Given the description of an element on the screen output the (x, y) to click on. 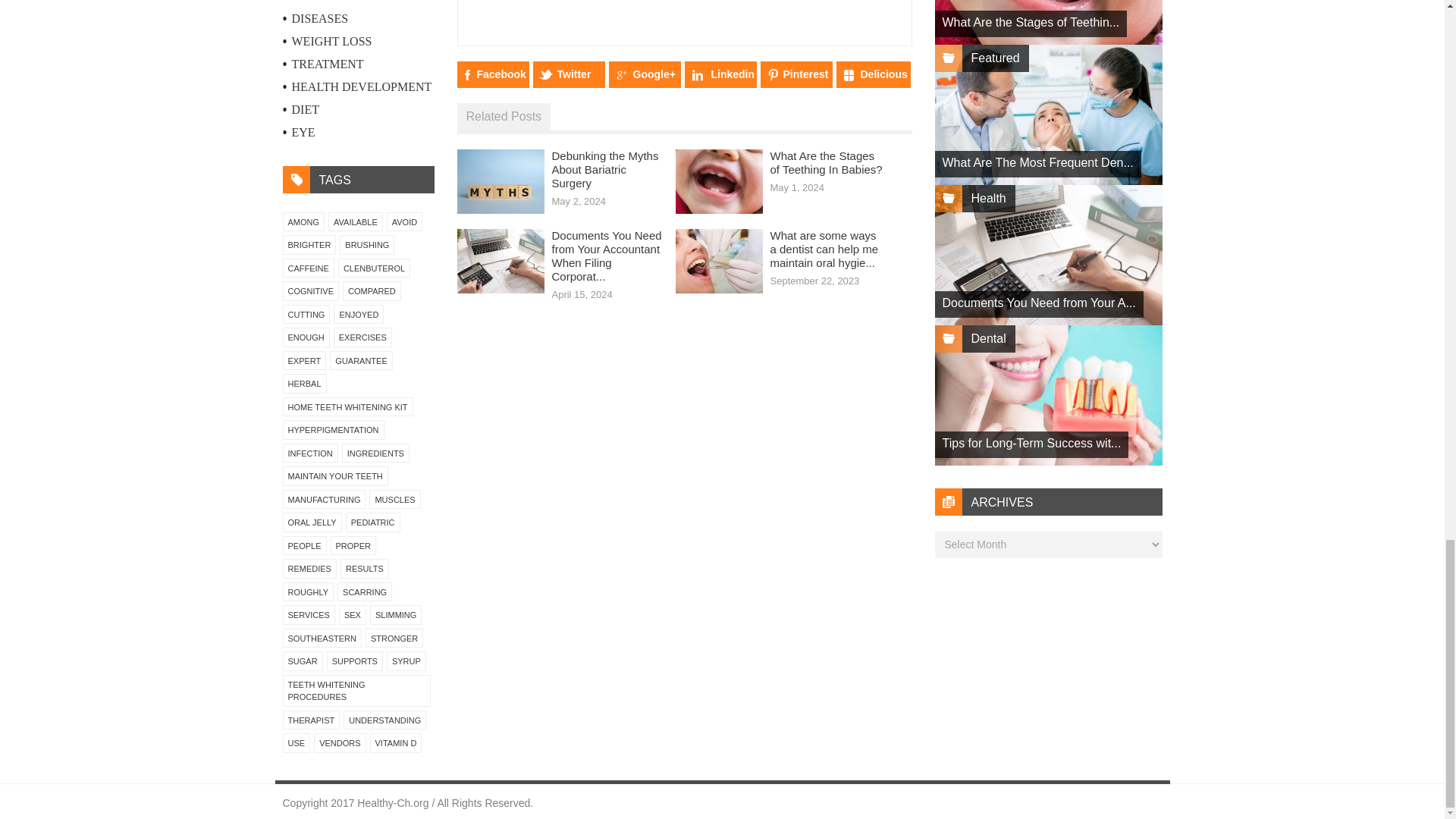
Linkedin (719, 74)
Facebook (492, 74)
Delicious (872, 74)
Debunking the Myths About Bariatric Surgery (605, 169)
Pinterest (795, 74)
What Are the Stages of Teething In Babies? (826, 162)
Twitter (568, 74)
